Given the description of an element on the screen output the (x, y) to click on. 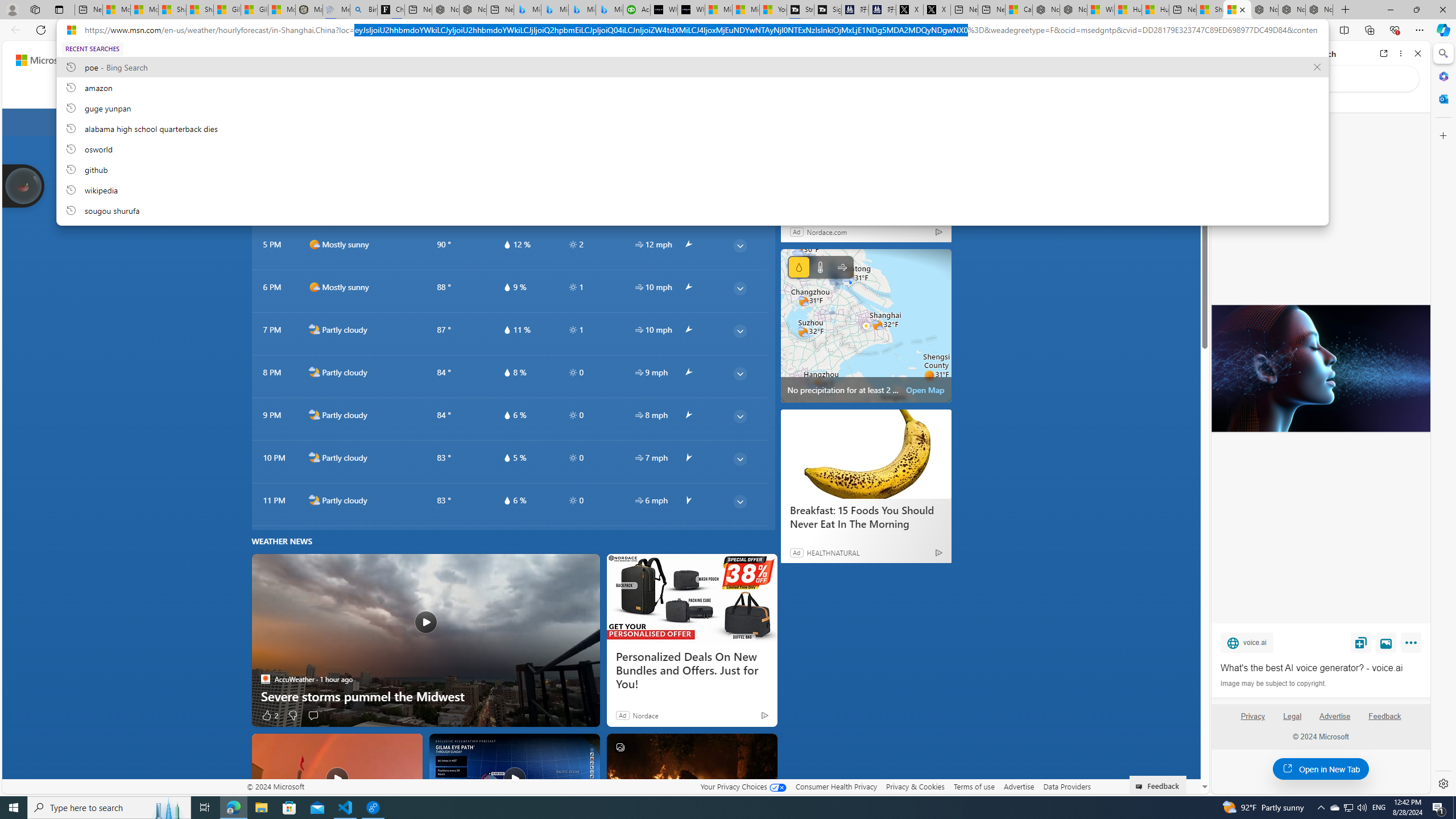
Open navigation menu (164, 92)
What's the best AI voice generator? - voice.ai (691, 9)
Search the web (1326, 78)
Side bar (1443, 418)
Pollen (640, 92)
More options (1401, 53)
common/arrow (687, 500)
Microsoft Start Sports (718, 9)
Privacy (1252, 720)
View image (1385, 642)
Web scope (1230, 102)
hourlyTable/drop (506, 500)
Data Providers (1066, 786)
Ad Choice (938, 552)
